Given the description of an element on the screen output the (x, y) to click on. 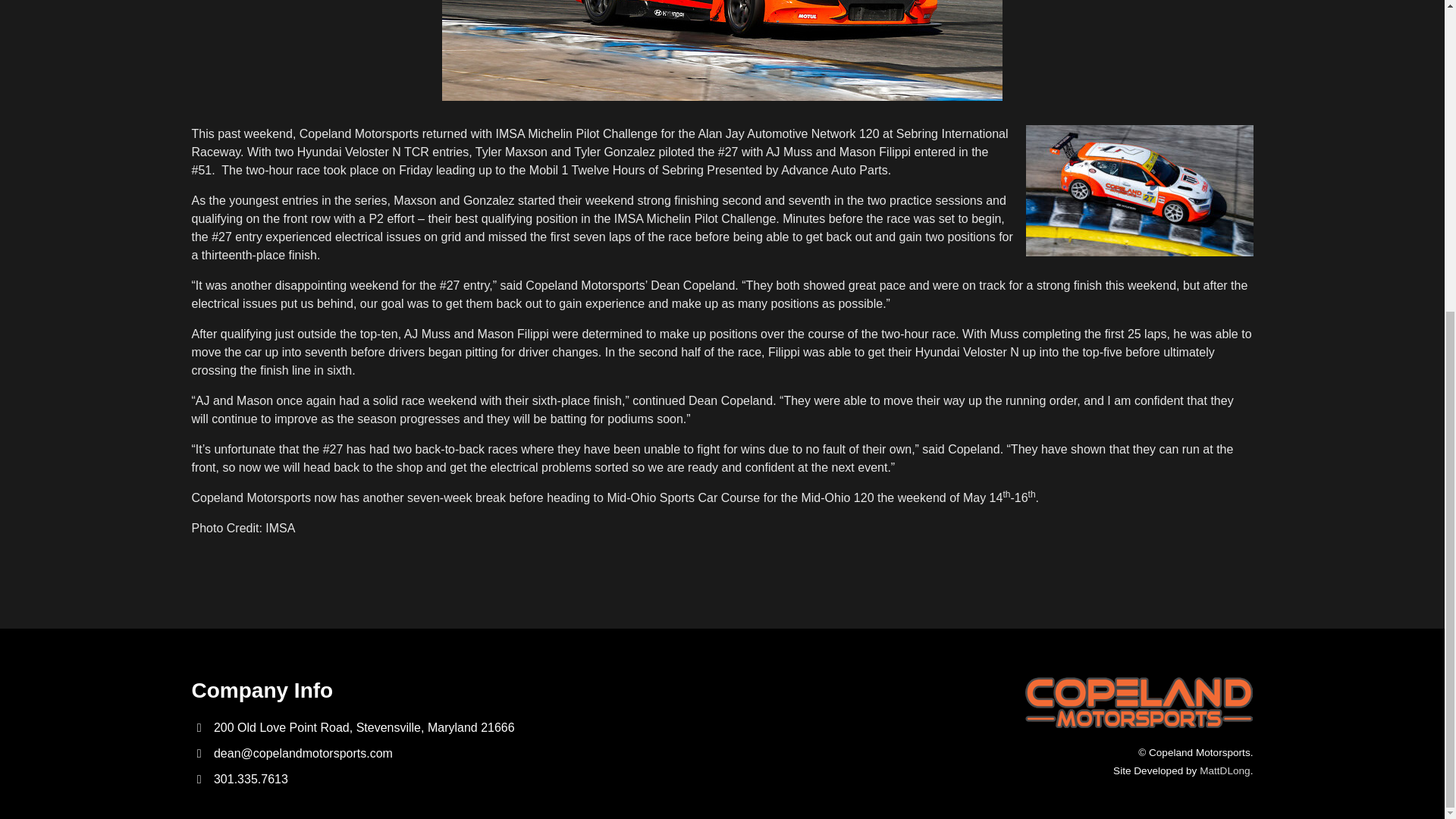
MattDLong (1224, 770)
